Given the description of an element on the screen output the (x, y) to click on. 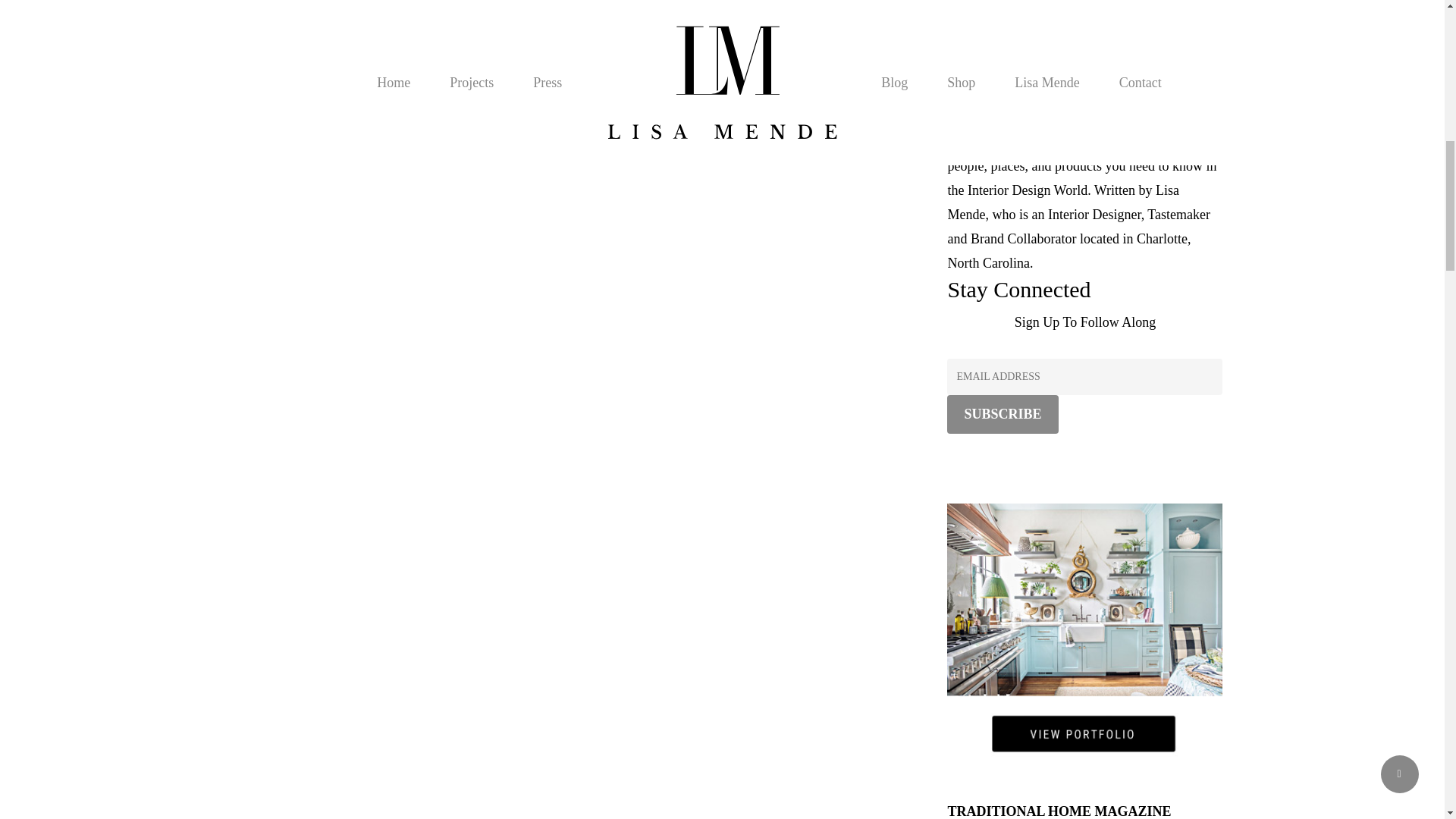
SUBSCRIBE (1002, 414)
SUBSCRIBE (1002, 414)
click here (770, 61)
